Given the description of an element on the screen output the (x, y) to click on. 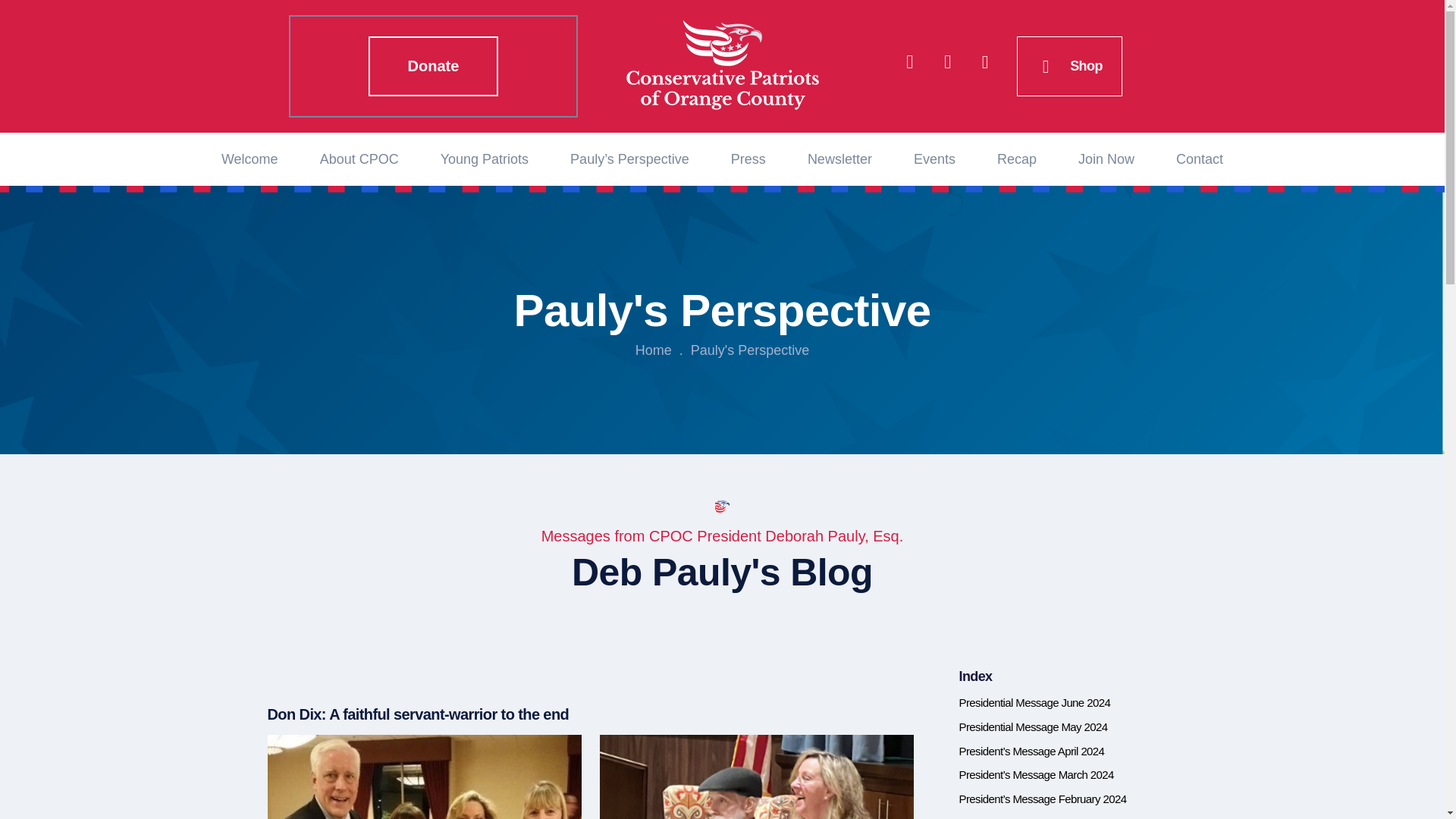
Newsletter (839, 158)
Presidential Message May 2024 (1032, 726)
Press (748, 158)
Donate (433, 65)
Recap (1016, 158)
Presidential Message June 2024 (1033, 702)
Young Patriots (484, 158)
About CPOC (359, 158)
Join Now (1106, 158)
Welcome (255, 158)
